Given the description of an element on the screen output the (x, y) to click on. 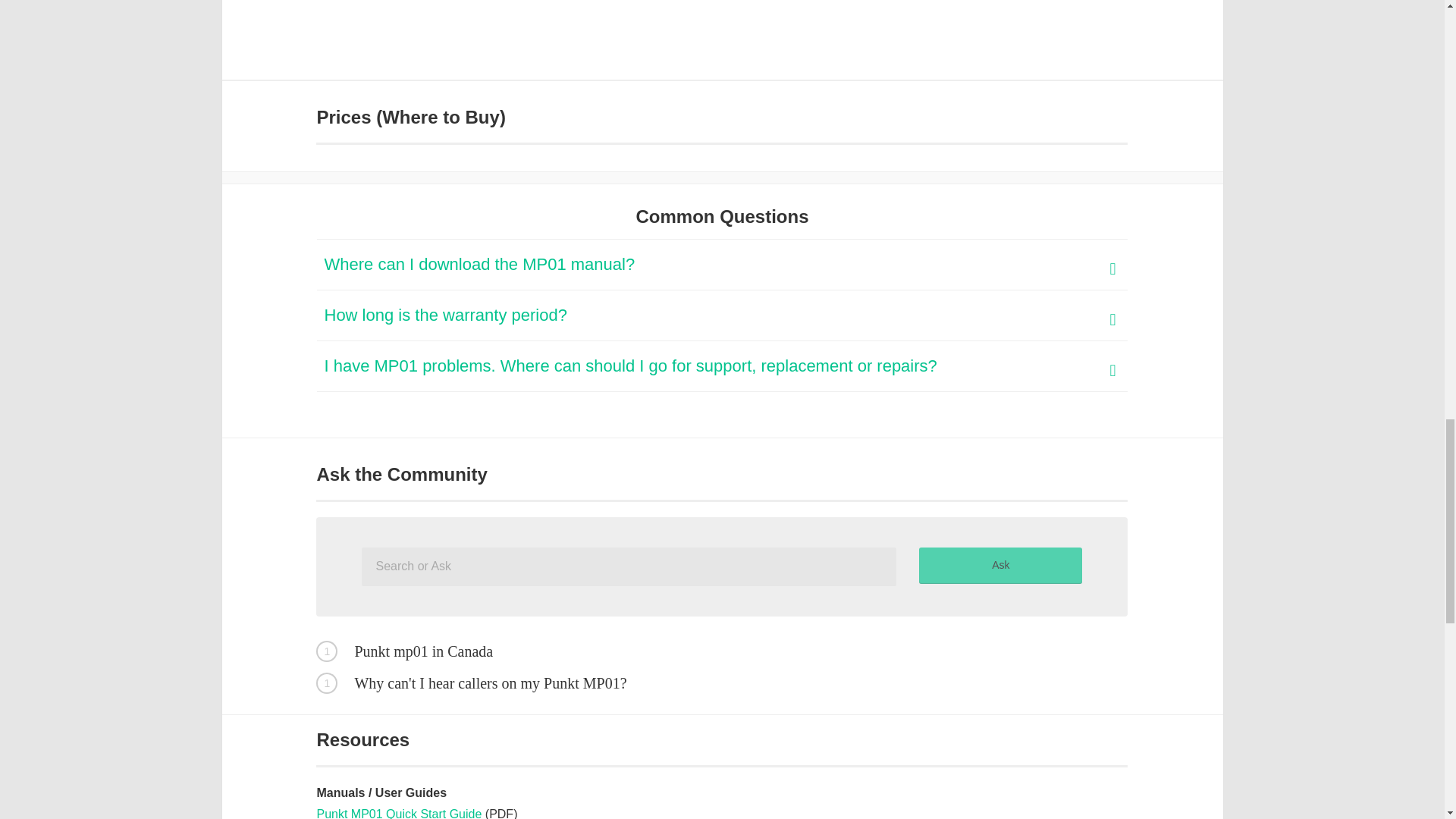
Ask (999, 565)
Where can I download the MP01 manual? (722, 264)
How long is the warranty period? (722, 315)
Search or Ask (628, 566)
